Given the description of an element on the screen output the (x, y) to click on. 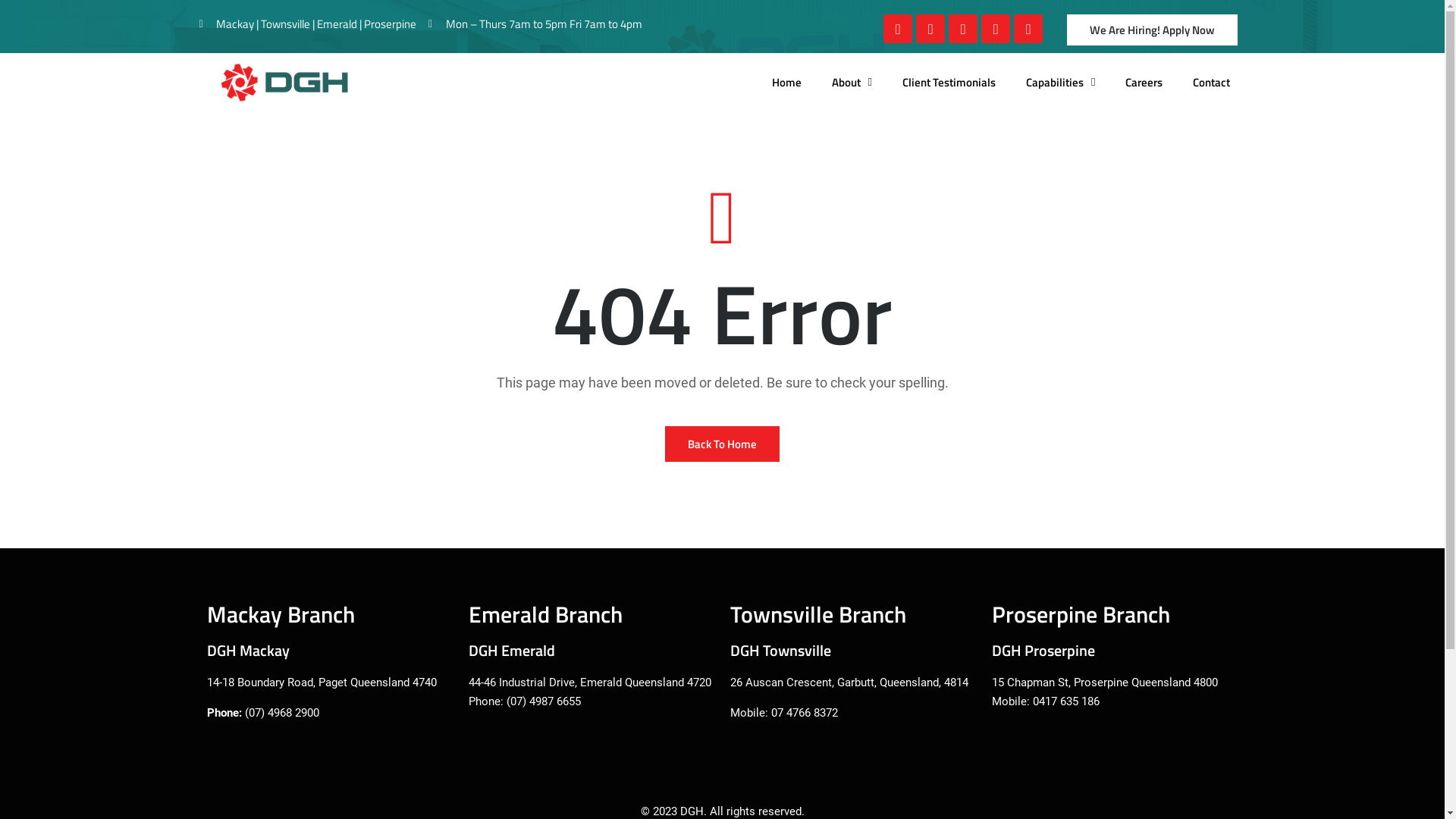
About Element type: text (851, 82)
Client Testimonials Element type: text (948, 82)
Capabilities Element type: text (1060, 82)
We Are Hiring! Apply Now Element type: text (1151, 29)
Contact Element type: text (1211, 82)
Home Element type: text (786, 82)
Careers Element type: text (1143, 82)
Back To Home Element type: text (722, 443)
